Given the description of an element on the screen output the (x, y) to click on. 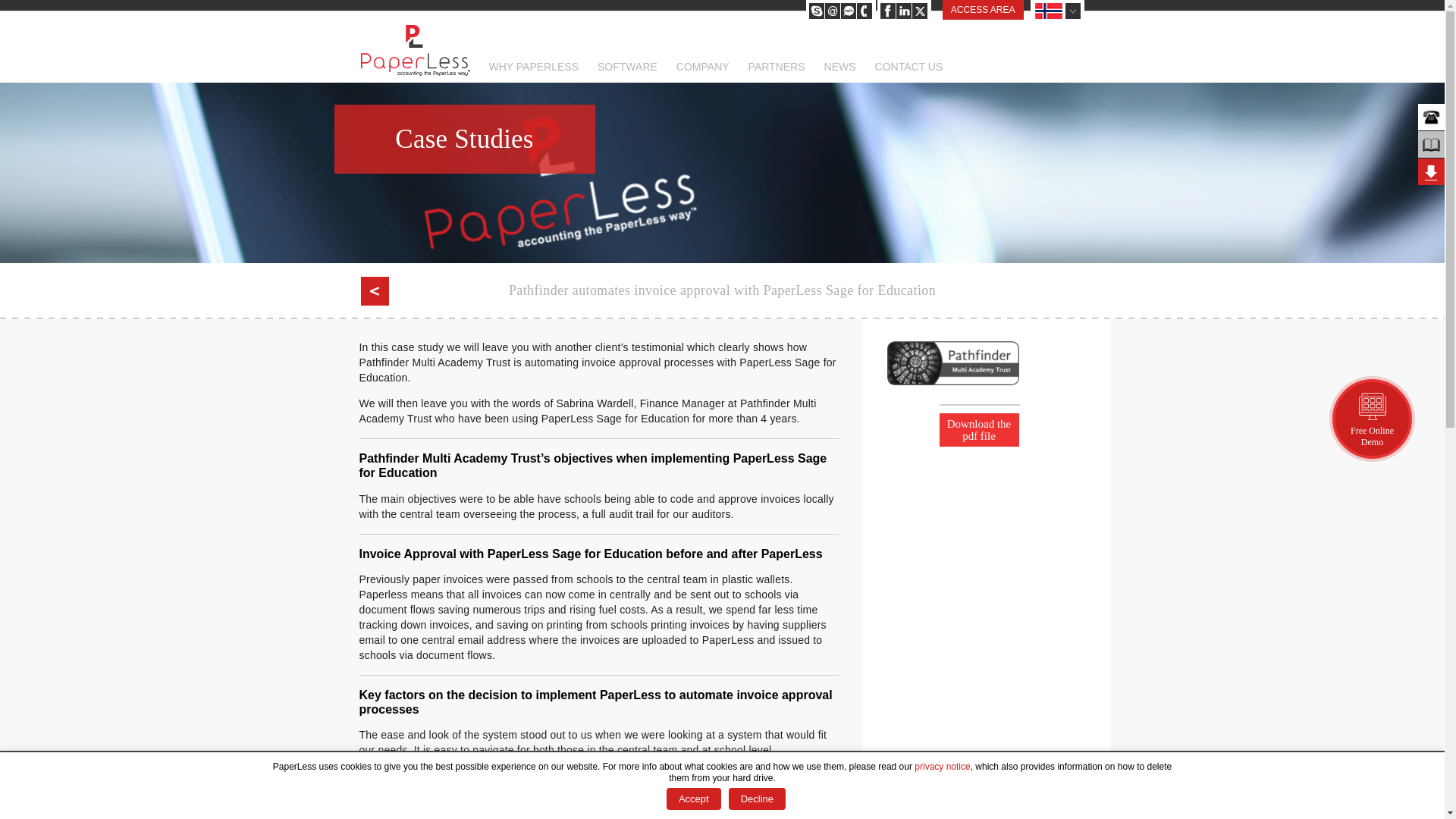
Facebook (887, 10)
WHY PAPERLESS (532, 71)
Twitter (919, 10)
Talk (848, 10)
Email (832, 10)
Skype (816, 10)
SOFTWARE (627, 71)
LinkedIn (903, 10)
COMPANY (703, 71)
Contact Us (864, 10)
ACCESS AREA (982, 9)
